Given the description of an element on the screen output the (x, y) to click on. 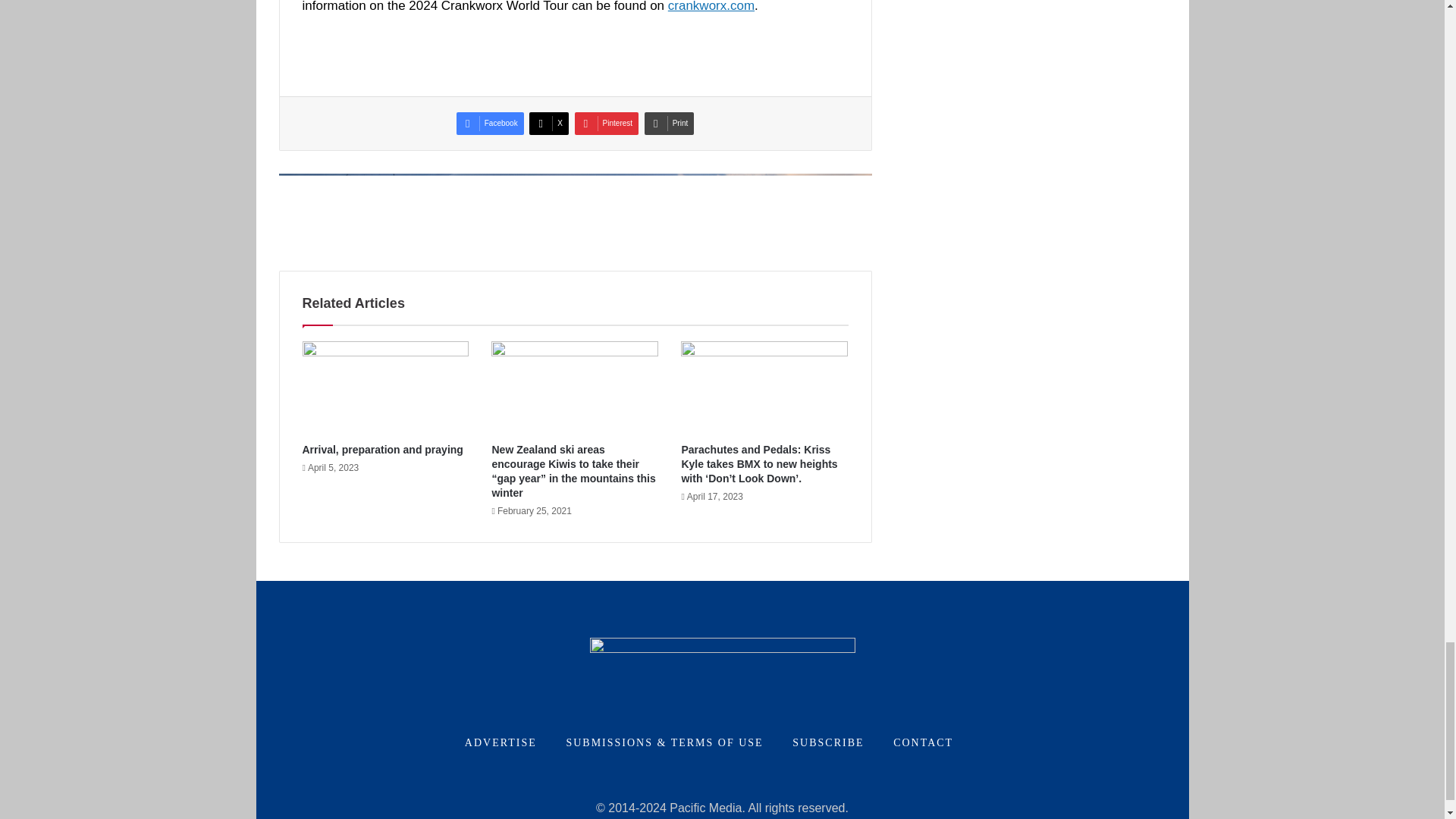
Facebook (490, 123)
Pinterest (607, 123)
X (549, 123)
Print (669, 123)
